Given the description of an element on the screen output the (x, y) to click on. 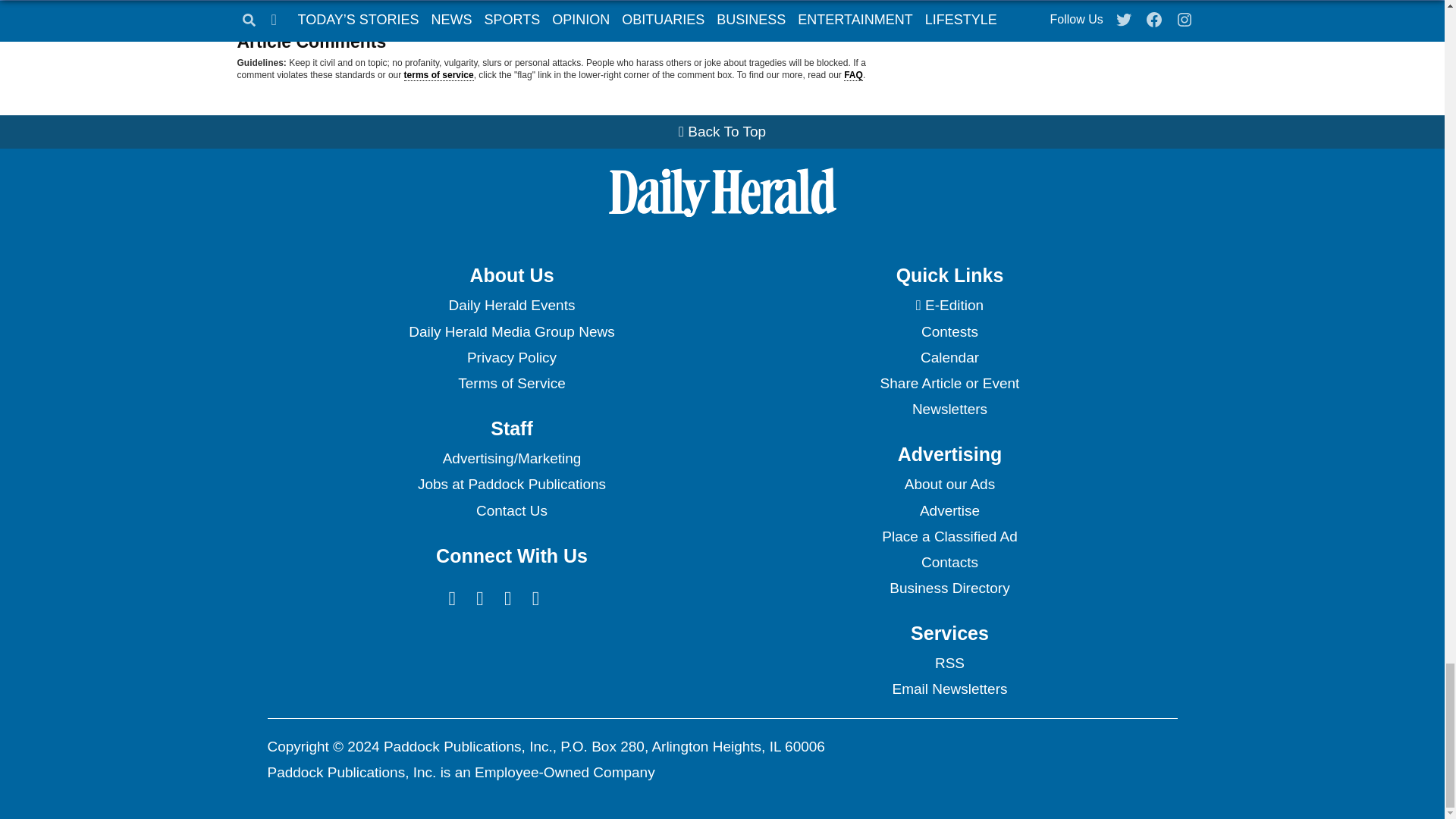
Daily Herald Events (511, 305)
Privacy Policy (511, 357)
Terms of Service (511, 383)
Daily Herald Digital Newspaper (949, 305)
Jobs at Paddock Publications (511, 484)
Contact Us (511, 510)
Contests (949, 331)
Daily Herald Media Group News (511, 331)
